Given the description of an element on the screen output the (x, y) to click on. 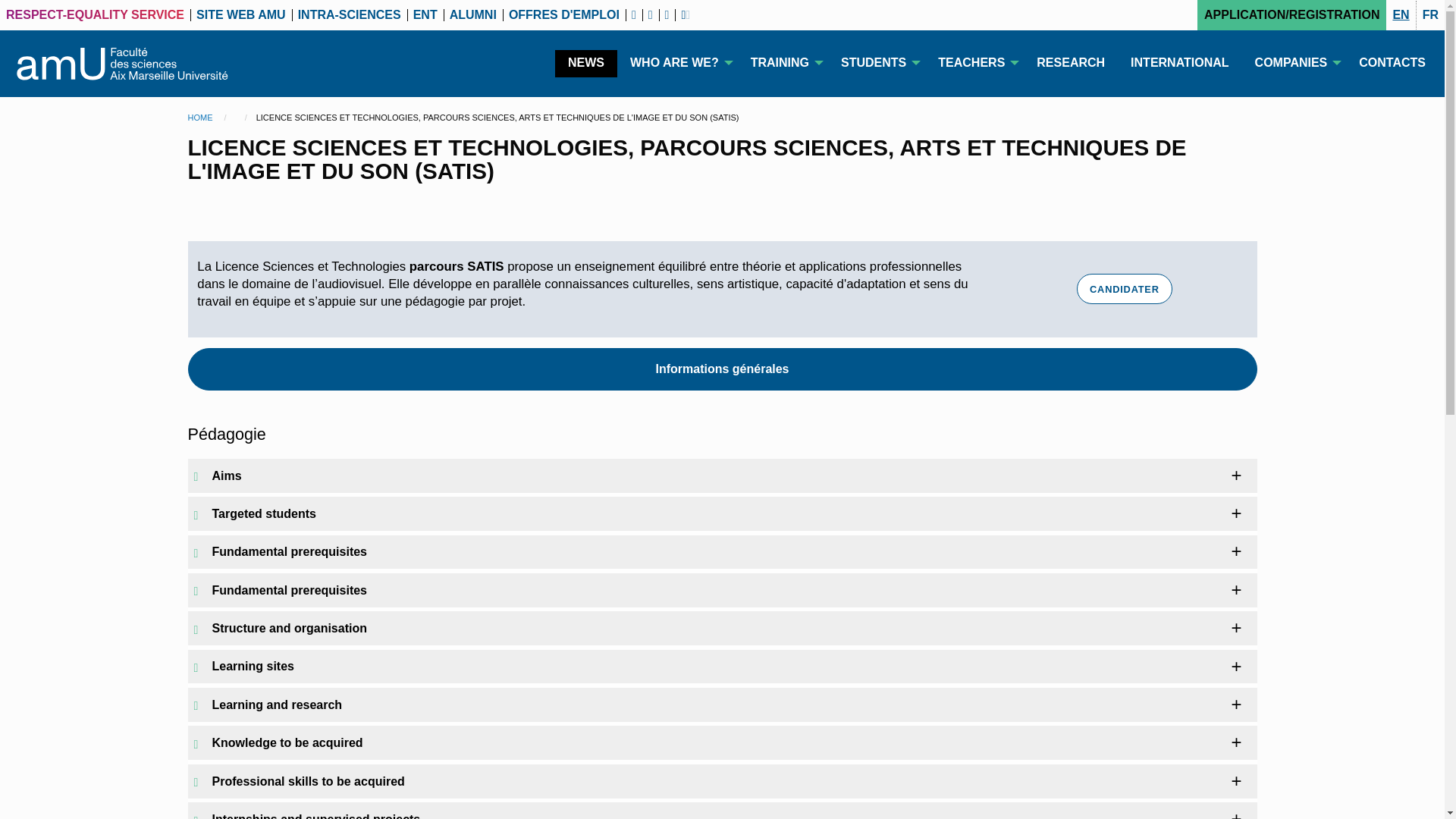
TEACHERS (973, 62)
INTERNATIONAL (1179, 62)
CONTACTS (1391, 62)
ENT (425, 8)
TRAINING (783, 62)
INTRA-SCIENCES (349, 8)
OFFRES D'EMPLOI (564, 8)
ALUMNI (473, 8)
RESEARCH (1070, 62)
